Given the description of an element on the screen output the (x, y) to click on. 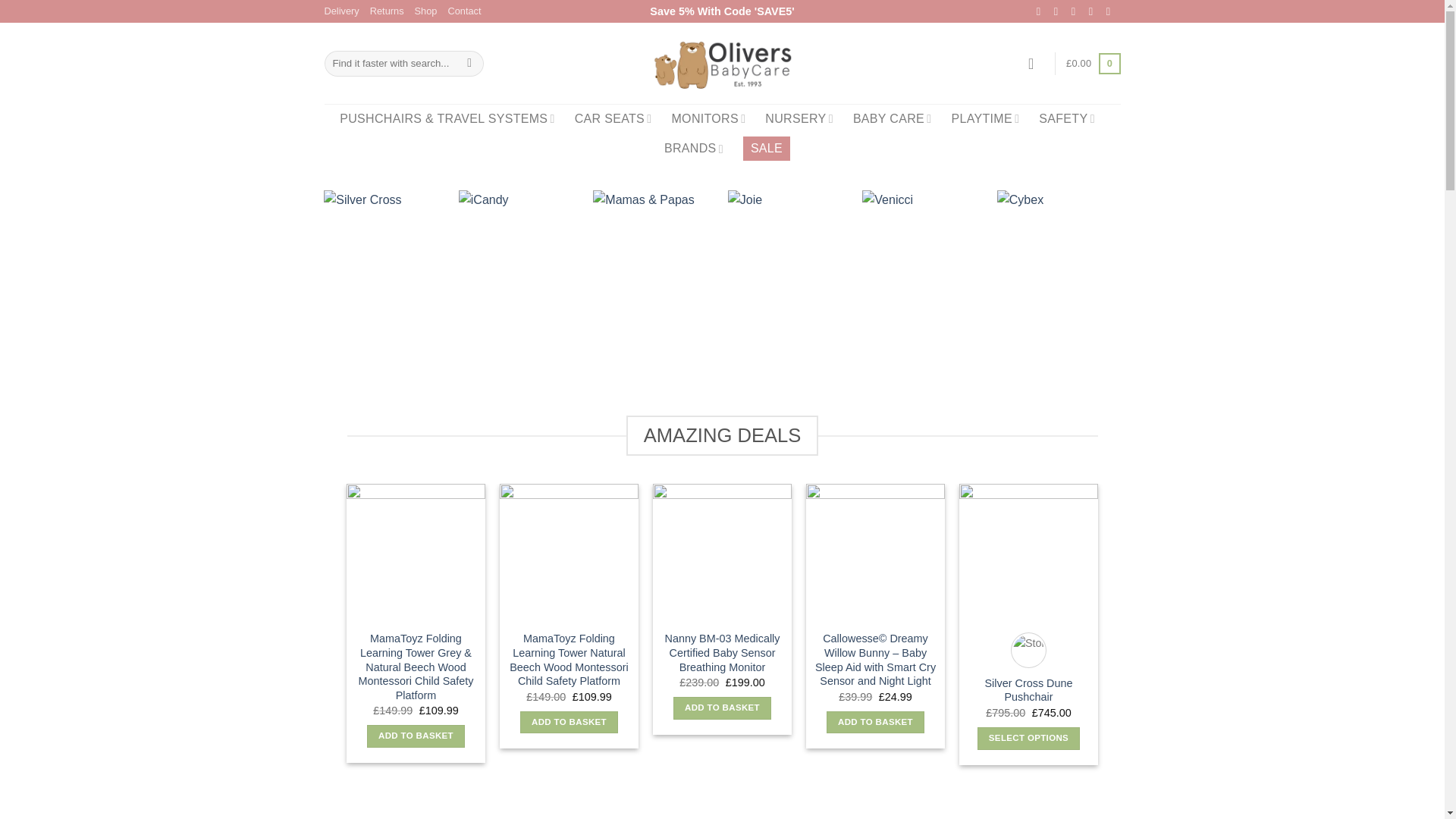
Delivery (341, 11)
Basket (1092, 63)
Contact (463, 11)
Search (469, 63)
Returns (386, 11)
Shop (426, 11)
